Given the description of an element on the screen output the (x, y) to click on. 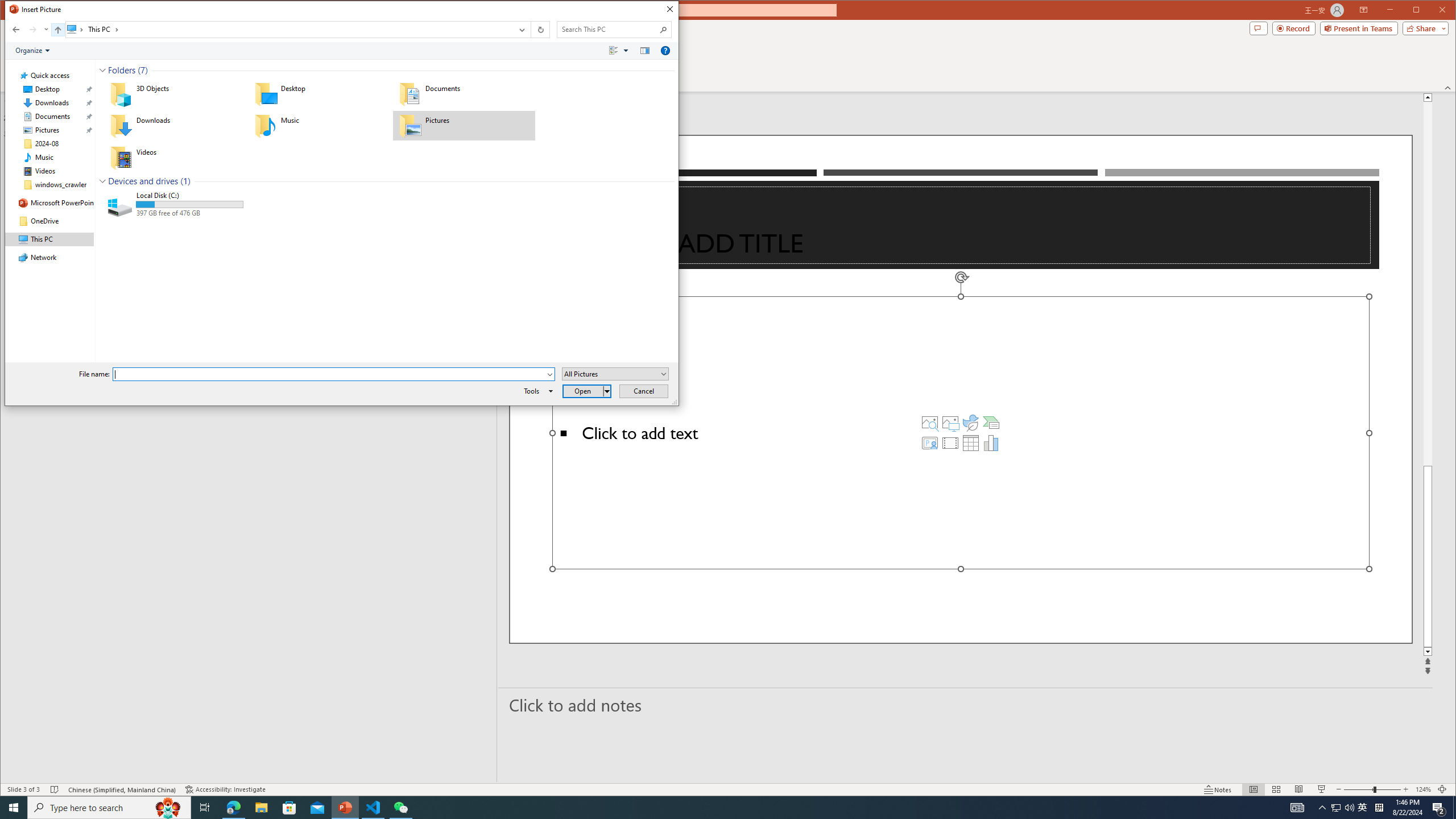
Back to Pictures (Alt + Left Arrow) (15, 29)
Desktop (319, 93)
Pictures (464, 125)
Maximize (1432, 11)
This PC (102, 29)
Previous Locations (520, 29)
Count (185, 180)
Refresh "This PC" (F5) (538, 29)
